Given the description of an element on the screen output the (x, y) to click on. 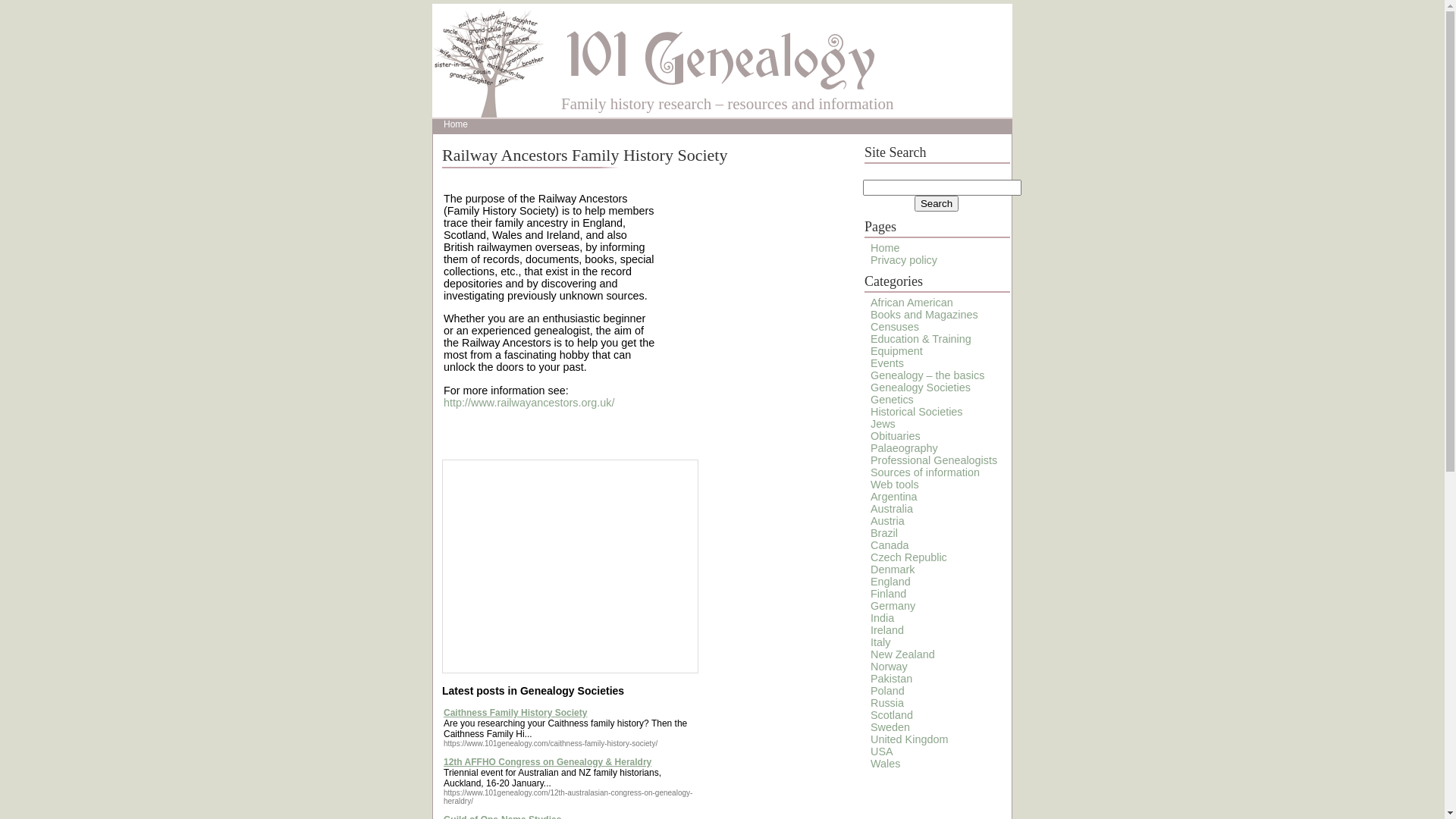
Books and Magazines Element type: text (924, 314)
Poland Element type: text (887, 690)
African American Element type: text (911, 302)
Austria Element type: text (887, 520)
Censuses Element type: text (894, 326)
Advertisement Element type: hover (619, 426)
Wales Element type: text (885, 763)
Italy Element type: text (880, 642)
Home Element type: text (884, 247)
Privacy policy Element type: text (903, 260)
Scotland Element type: text (891, 715)
Pakistan Element type: text (891, 678)
http://www.railwayancestors.org.uk/ Element type: text (529, 402)
Russia Element type: text (886, 702)
Finland Element type: text (888, 593)
Home Element type: text (455, 124)
Argentina Element type: text (893, 496)
Germany Element type: text (892, 605)
Caithness Family History Society Element type: text (514, 712)
Equipment Element type: text (896, 351)
India Element type: text (882, 617)
Web tools Element type: text (894, 484)
Sources of information Element type: text (924, 472)
Historical Societies Element type: text (916, 411)
USA Element type: text (881, 751)
England Element type: text (890, 581)
12th AFFHO Congress on Genealogy & Heraldry Element type: text (547, 761)
Obituaries Element type: text (895, 435)
Advertisement Element type: hover (755, 277)
Advertisement Element type: hover (569, 566)
Ireland Element type: text (886, 630)
Canada Element type: text (889, 545)
New Zealand Element type: text (902, 654)
Denmark Element type: text (892, 569)
Czech Republic Element type: text (908, 557)
Palaeography Element type: text (904, 448)
Search Element type: text (936, 203)
Professional Genealogists Element type: text (933, 460)
Norway Element type: text (888, 666)
United Kingdom Element type: text (908, 739)
Australia Element type: text (891, 508)
101 Genealogy Element type: hover (720, 56)
Genealogy Societies Element type: text (920, 387)
Sweden Element type: text (890, 727)
Events Element type: text (886, 363)
Brazil Element type: text (883, 533)
Education & Training Element type: text (920, 338)
Jews Element type: text (882, 423)
Genetics Element type: text (891, 399)
